Given the description of an element on the screen output the (x, y) to click on. 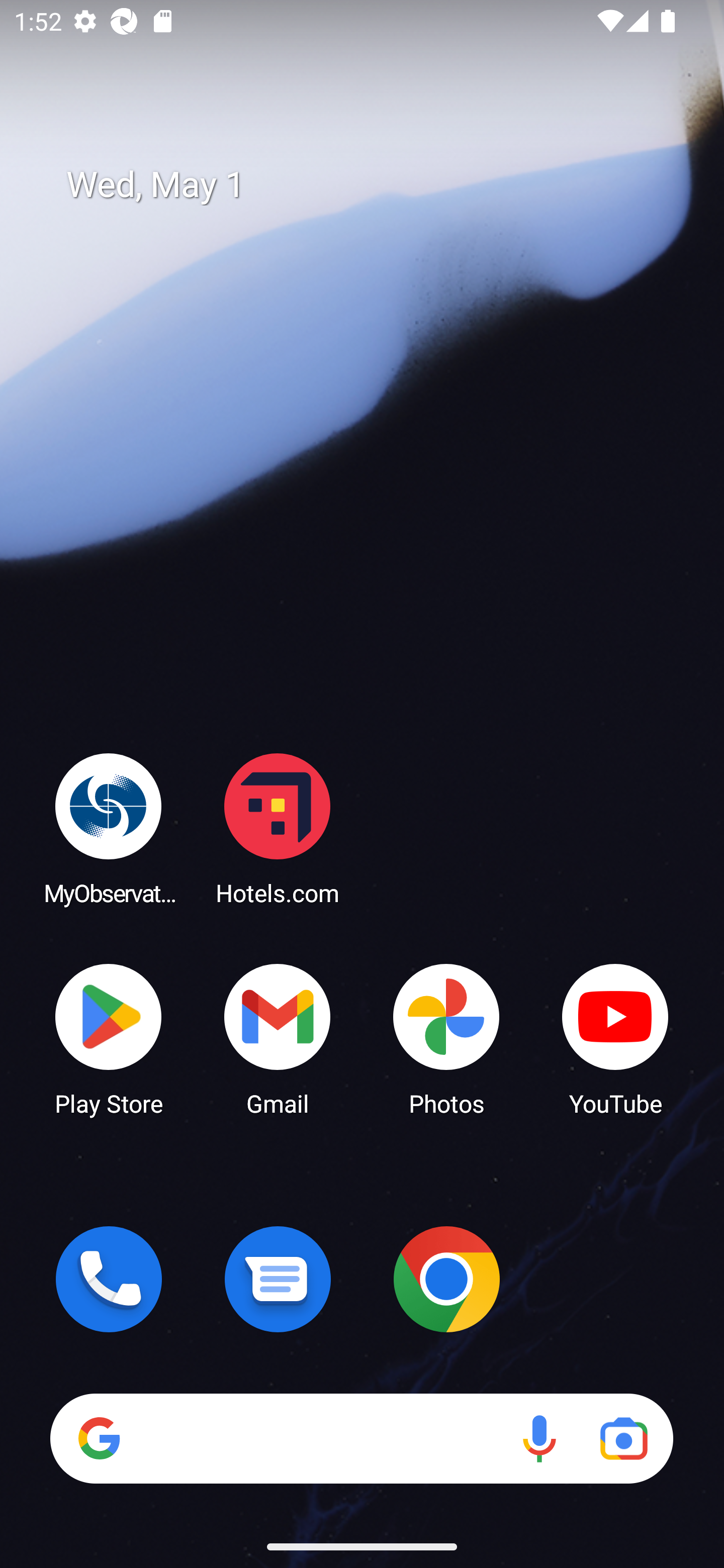
Wed, May 1 (375, 184)
MyObservatory (108, 828)
Hotels.com (277, 828)
Play Store (108, 1038)
Gmail (277, 1038)
Photos (445, 1038)
YouTube (615, 1038)
Phone (108, 1279)
Messages (277, 1279)
Chrome (446, 1279)
Search Voice search Google Lens (361, 1438)
Voice search (539, 1438)
Google Lens (623, 1438)
